Given the description of an element on the screen output the (x, y) to click on. 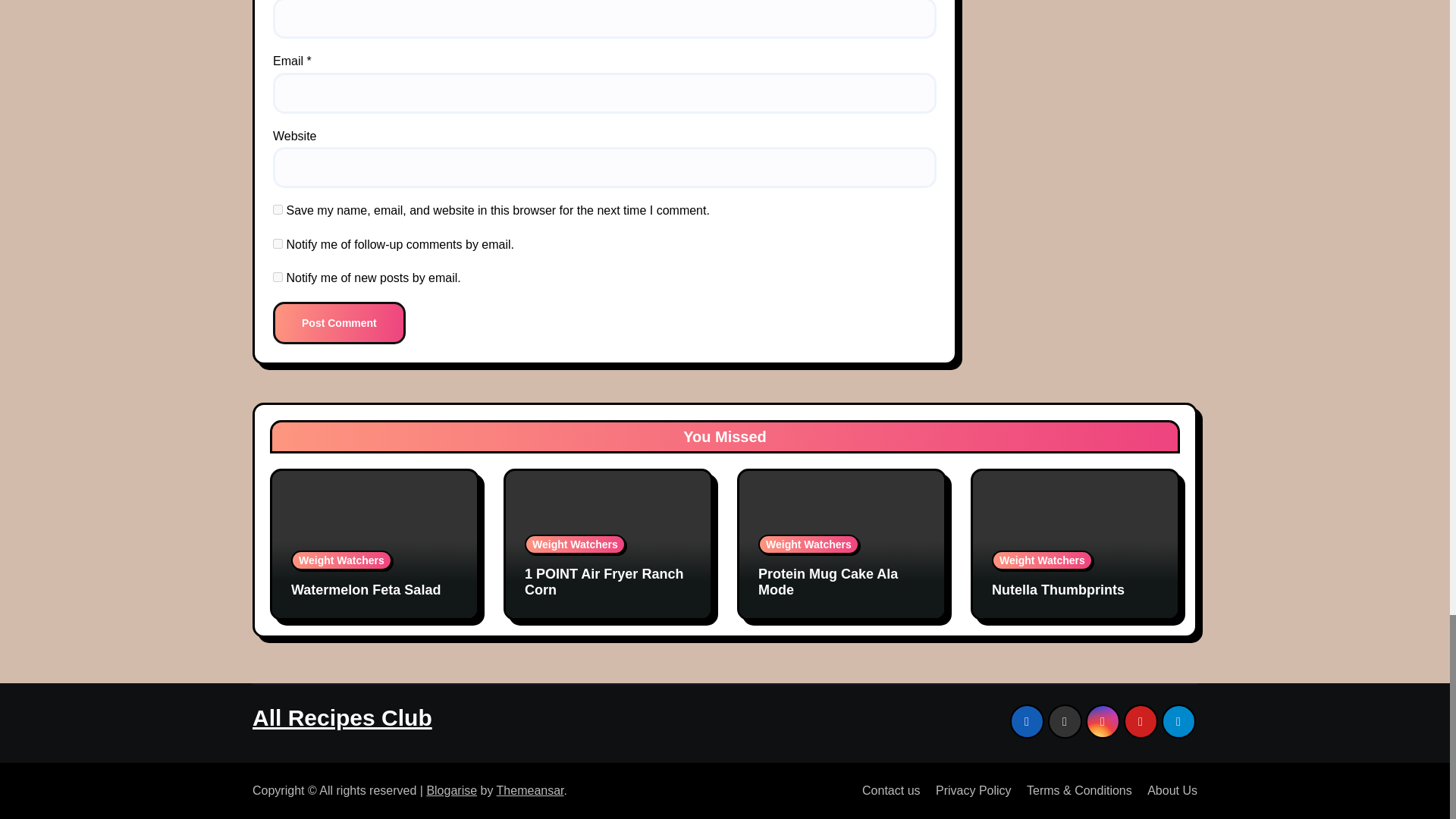
Contact us (885, 790)
Post Comment (339, 322)
yes (277, 209)
Permalink to: 1 POINT Air Fryer Ranch Corn (603, 582)
Permalink to: Protein Mug Cake Ala Mode (828, 582)
Permalink to: Watermelon Feta Salad (366, 589)
subscribe (277, 243)
Permalink to: Nutella Thumbprints (1057, 589)
subscribe (277, 276)
